Given the description of an element on the screen output the (x, y) to click on. 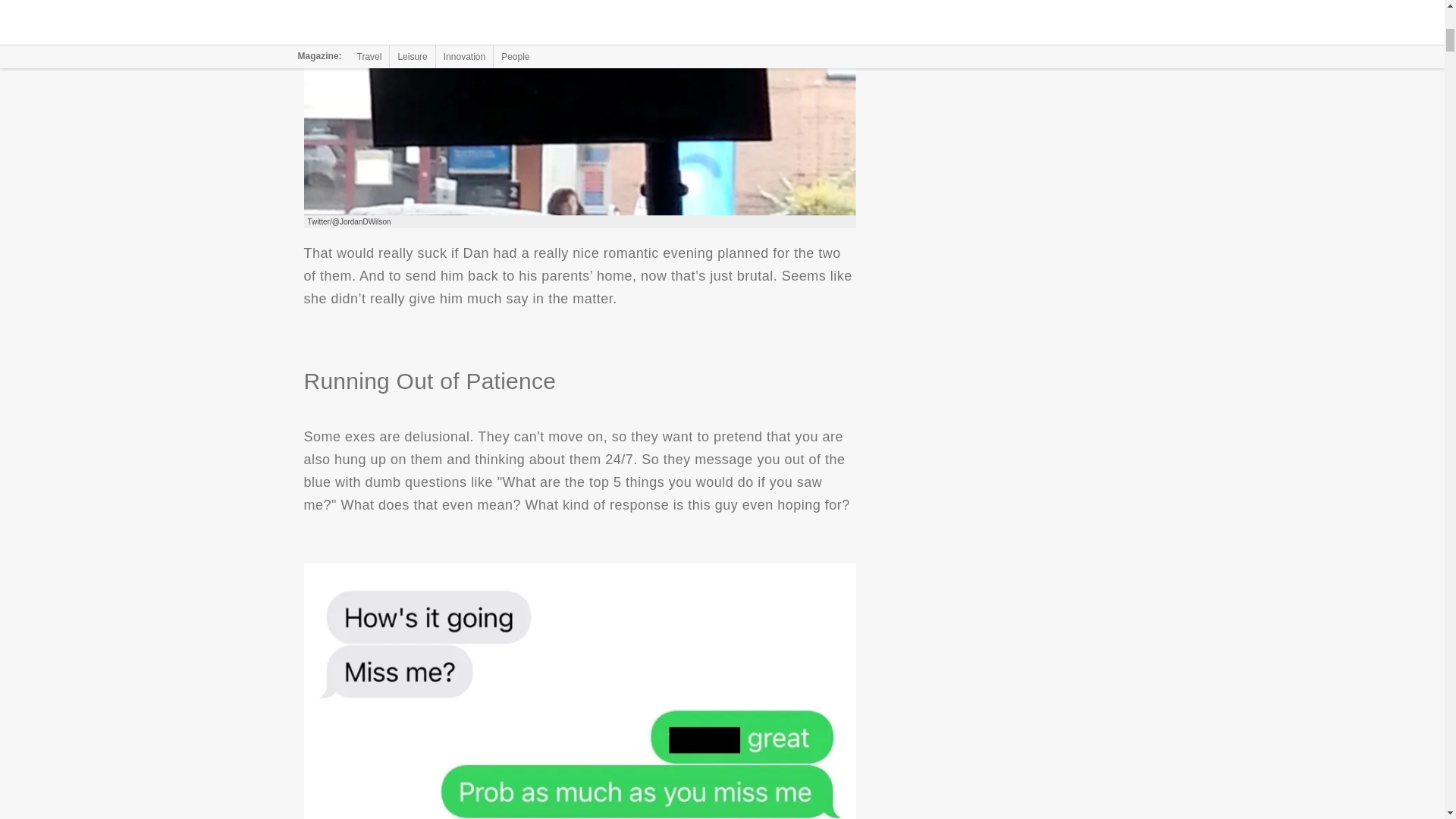
How Can You Be So Heartless? (579, 108)
